Given the description of an element on the screen output the (x, y) to click on. 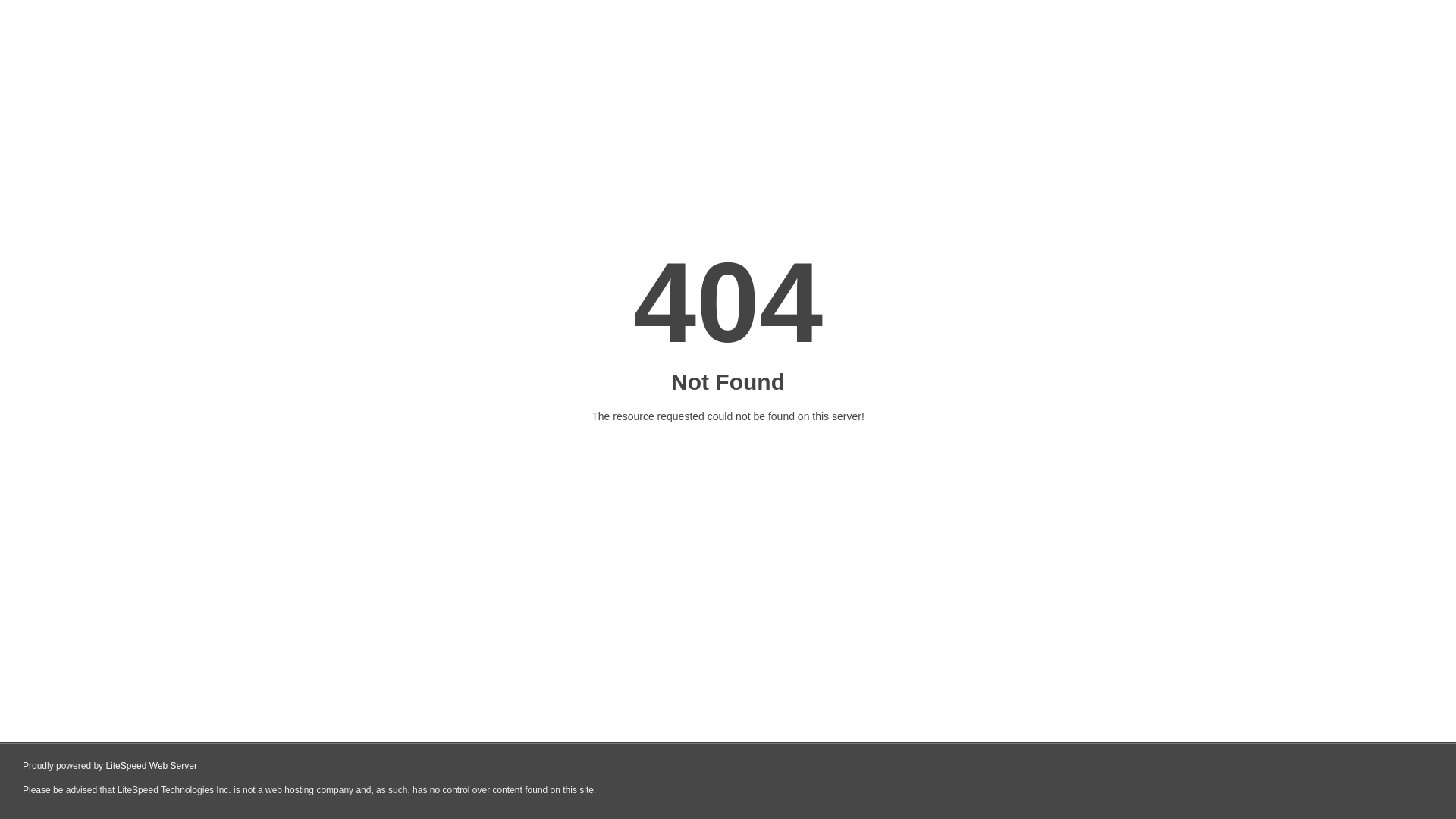
LiteSpeed Web Server Element type: text (151, 765)
